Given the description of an element on the screen output the (x, y) to click on. 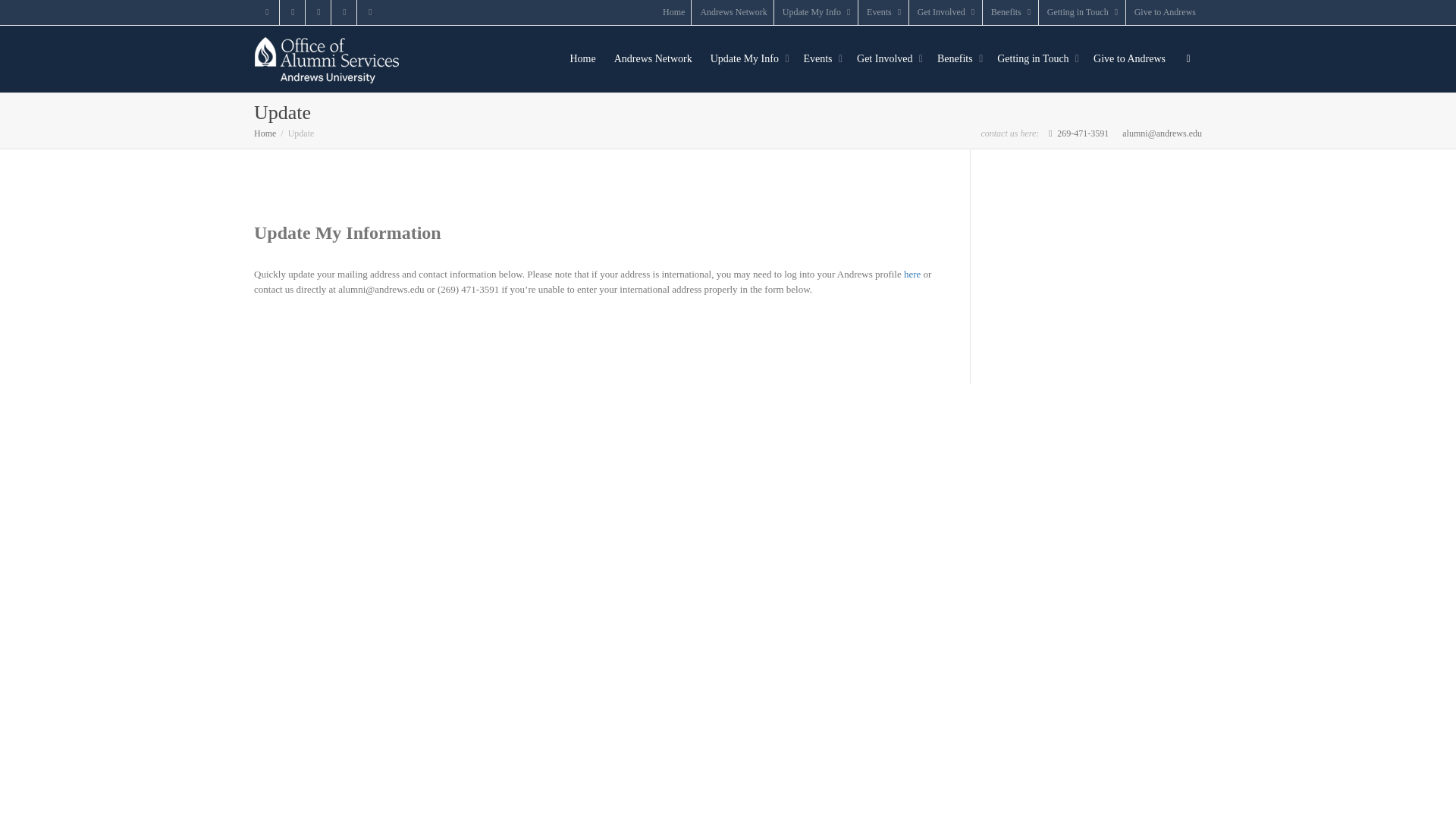
Update My Info (817, 12)
Andrews Network (733, 12)
Benefits (1012, 12)
Get Involved (946, 12)
Update My Info (817, 12)
Events (884, 12)
Home (673, 12)
Home (673, 12)
Andrews Network (733, 12)
Events (884, 12)
